Given the description of an element on the screen output the (x, y) to click on. 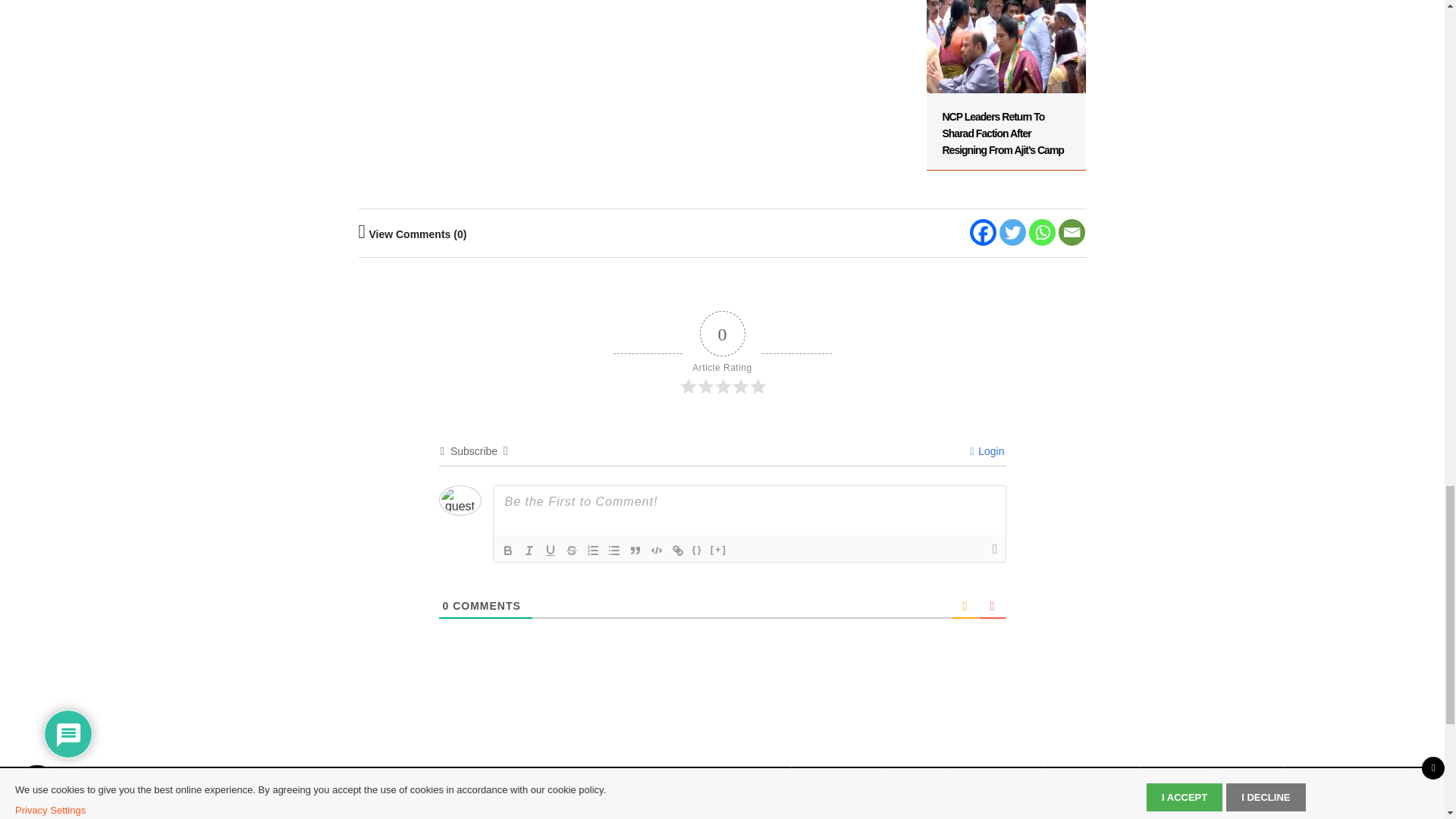
Login (986, 451)
